Given the description of an element on the screen output the (x, y) to click on. 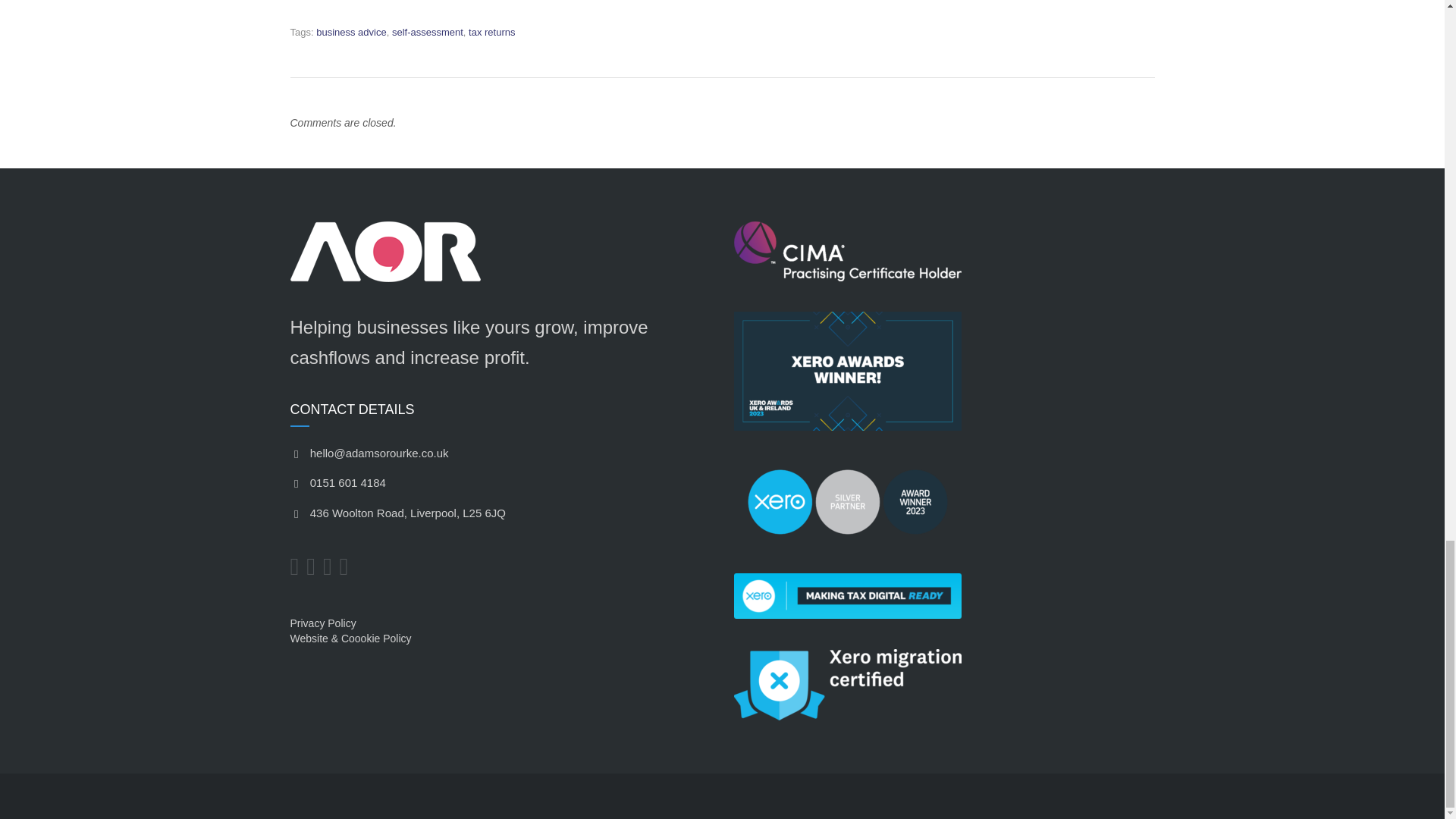
Privacy Policy (322, 623)
self-assessment (427, 31)
tax returns (491, 31)
0151 601 4184 (337, 481)
business advice (351, 31)
